Given the description of an element on the screen output the (x, y) to click on. 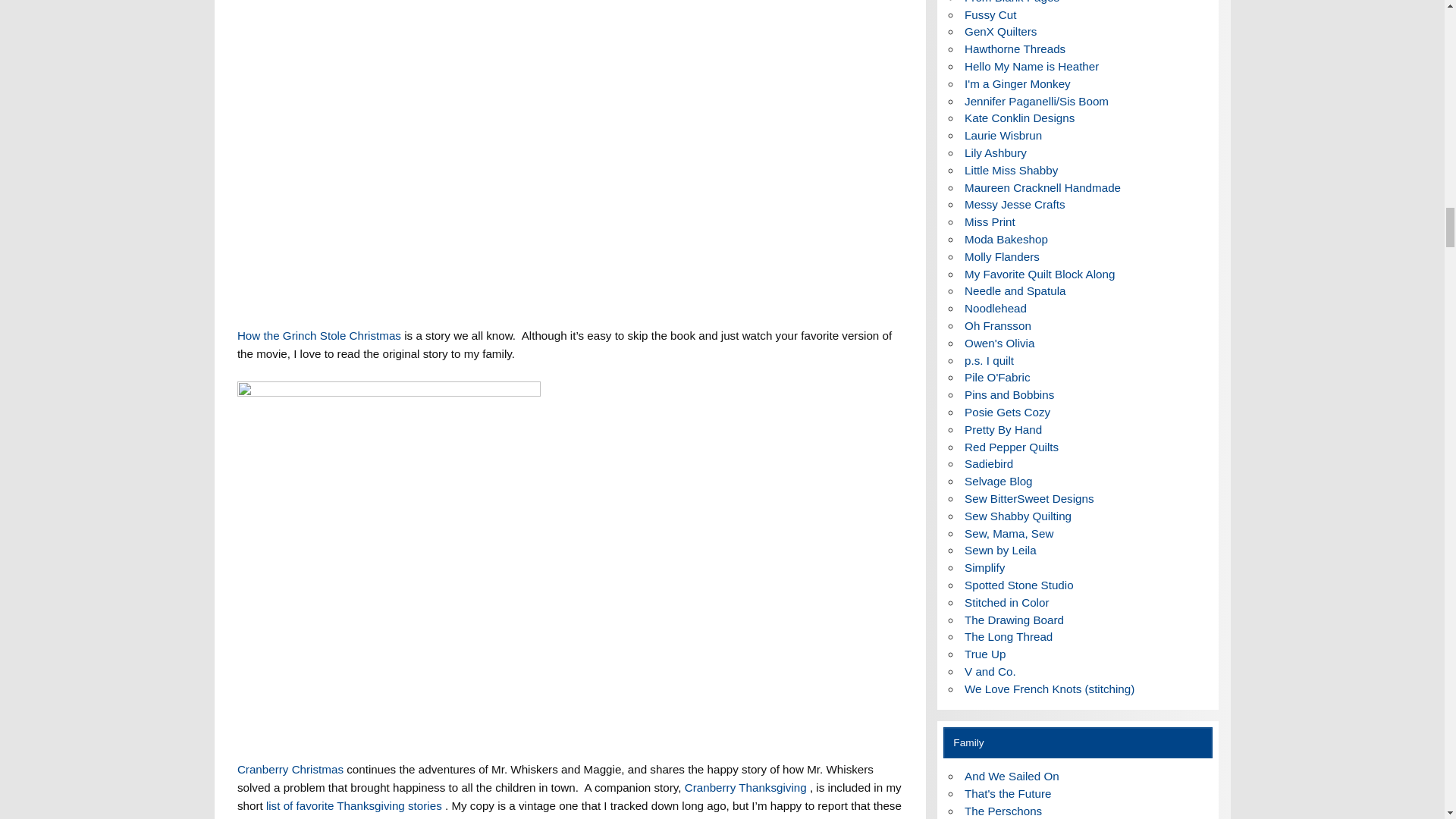
How the Grinch Stole Christmas (320, 344)
Cranberry Thanksgiving (746, 787)
list of favorite Thanksgiving stories (355, 805)
Cranberry Christmas (291, 777)
